Given the description of an element on the screen output the (x, y) to click on. 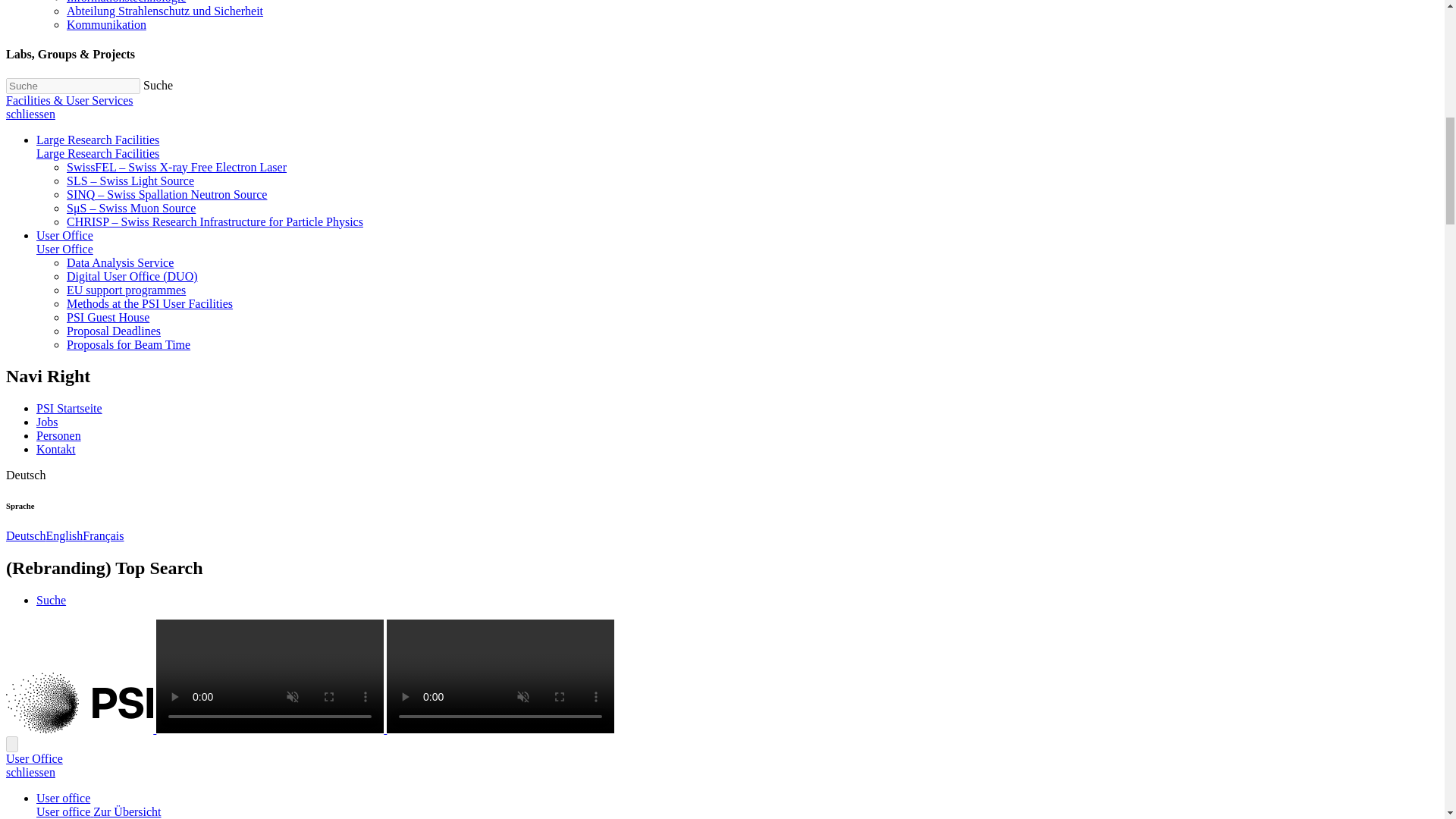
Close navigation (30, 771)
Change website language (25, 474)
